Given the description of an element on the screen output the (x, y) to click on. 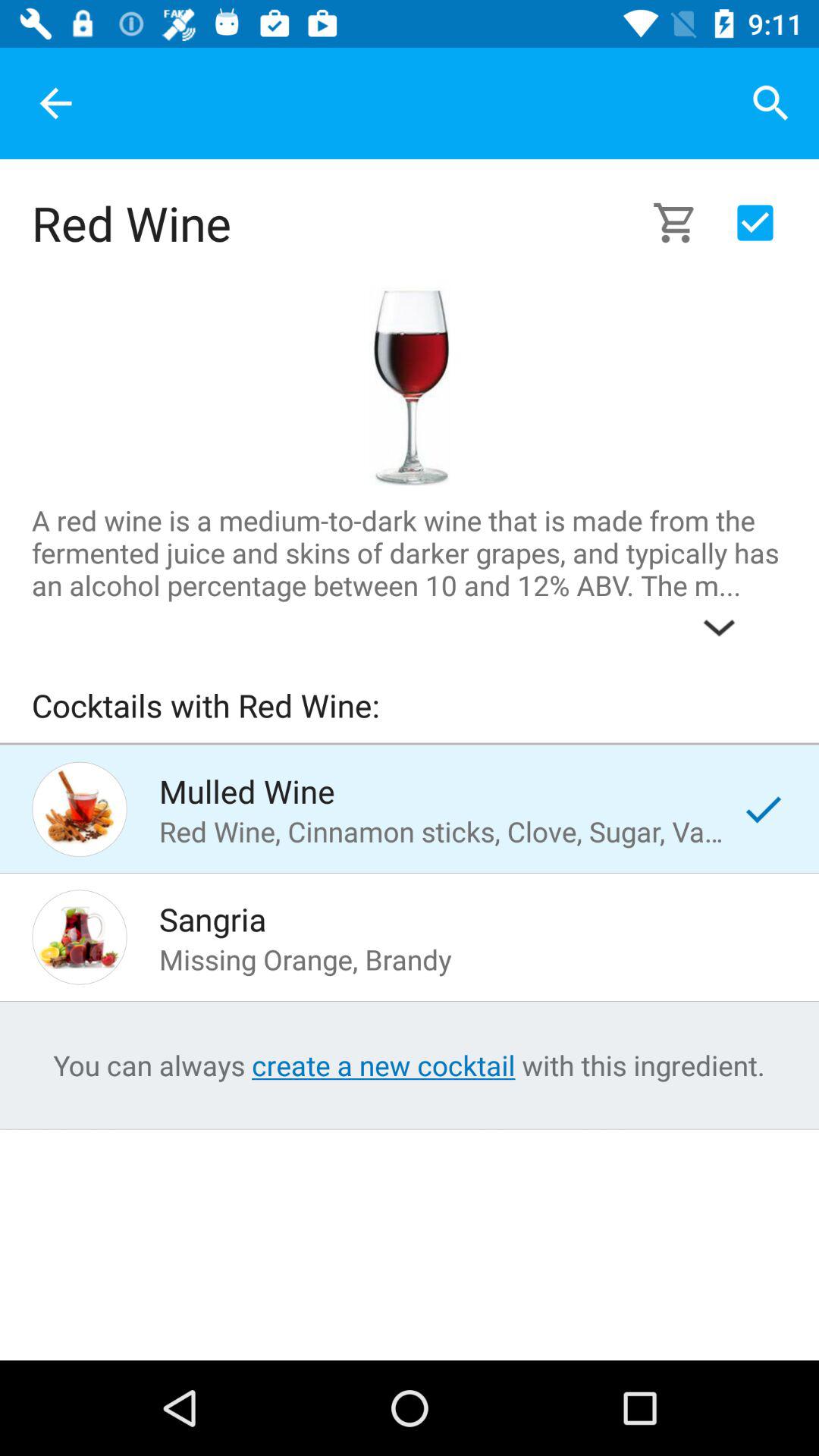
add to cart (683, 222)
